Given the description of an element on the screen output the (x, y) to click on. 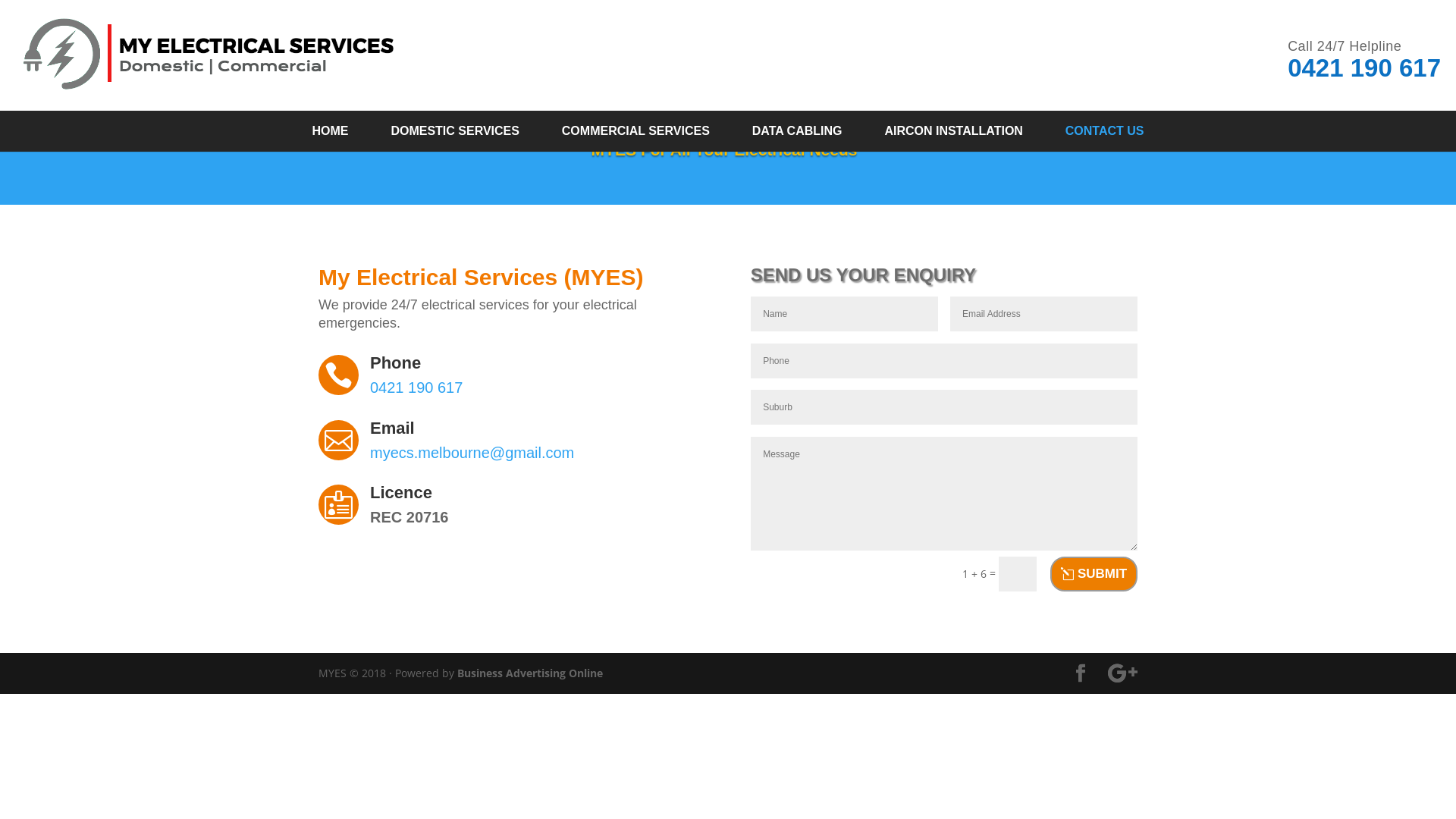
Only numbers allowed. Element type: hover (943, 360)
HOME Element type: text (330, 130)
CONTACT US Element type: text (1104, 130)
SUBMIT Element type: text (1093, 573)
COMMERCIAL SERVICES Element type: text (635, 130)
DATA CABLING Element type: text (796, 130)
Licence Element type: text (401, 492)
DOMESTIC SERVICES Element type: text (454, 130)
0421 190 617 Element type: text (416, 387)
myecs.melbourne@gmail.com Element type: text (472, 452)
0421 190 617 Element type: text (1363, 67)
Business Advertising Online Element type: text (529, 672)
AIRCON INSTALLATION Element type: text (953, 130)
